Given the description of an element on the screen output the (x, y) to click on. 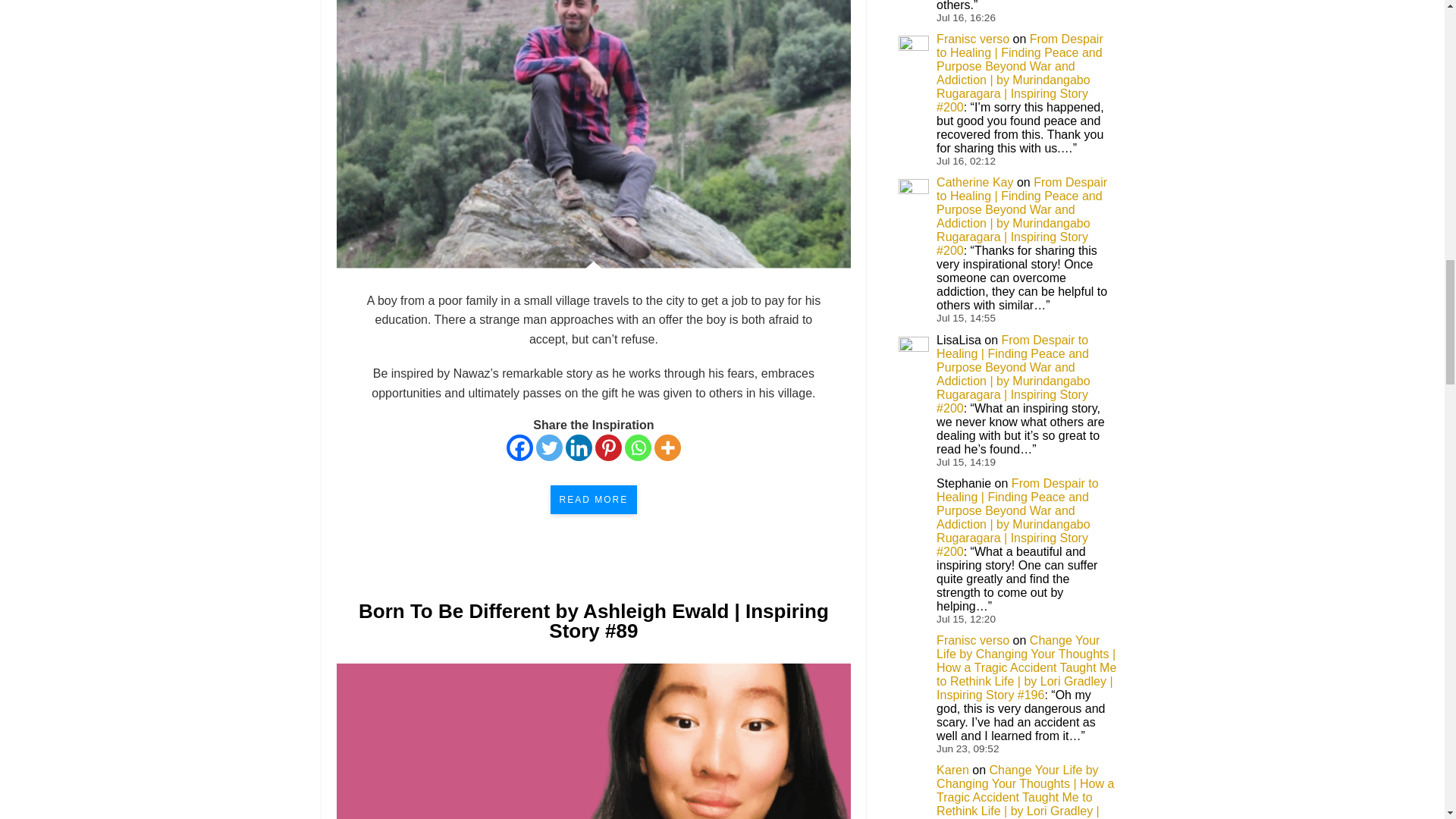
Linkedin (579, 447)
Pinterest (608, 447)
More (667, 447)
READ MORE (593, 499)
Facebook (519, 447)
Whatsapp (637, 447)
Twitter (548, 447)
